Given the description of an element on the screen output the (x, y) to click on. 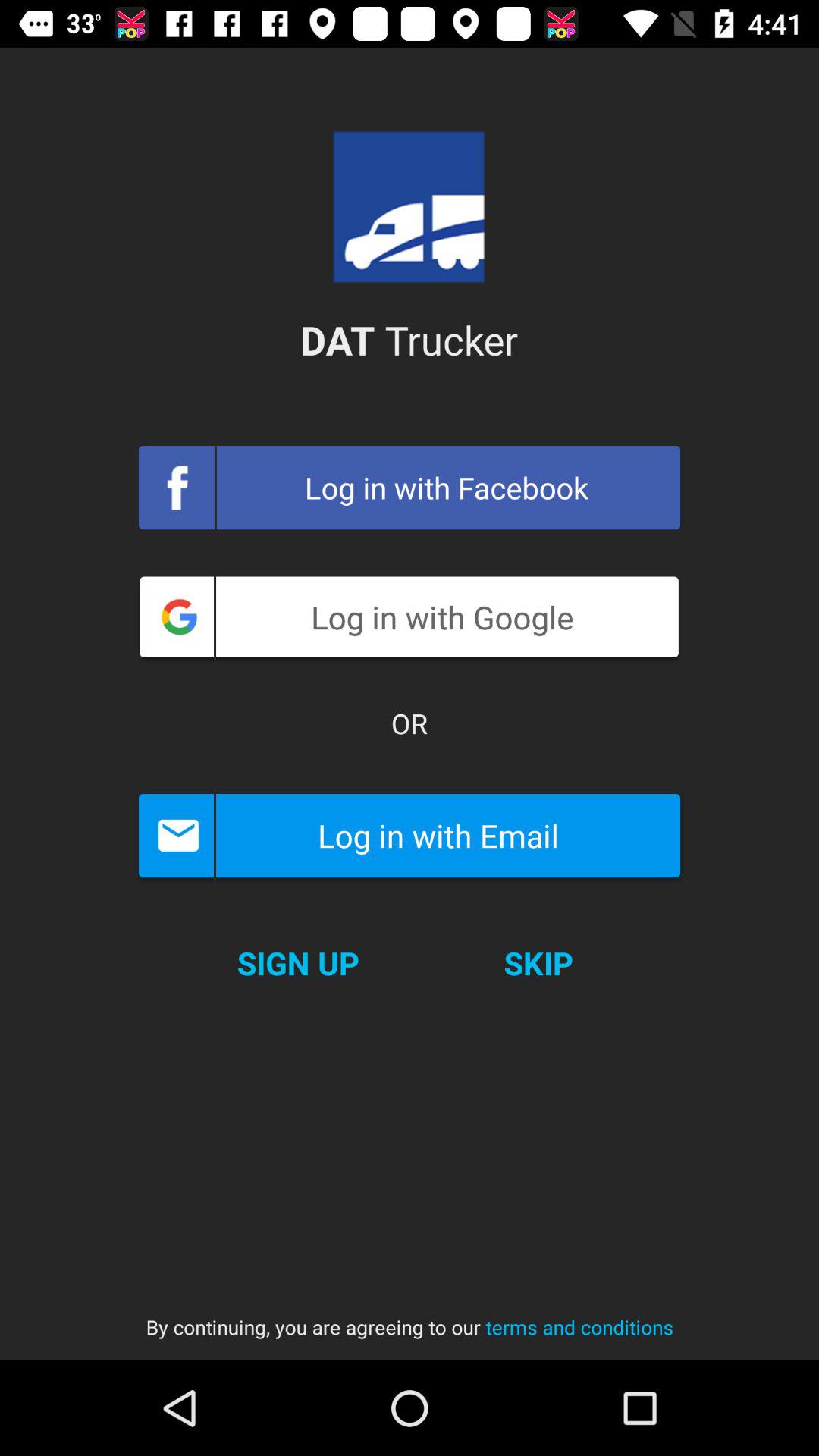
flip to the or item (409, 723)
